Given the description of an element on the screen output the (x, y) to click on. 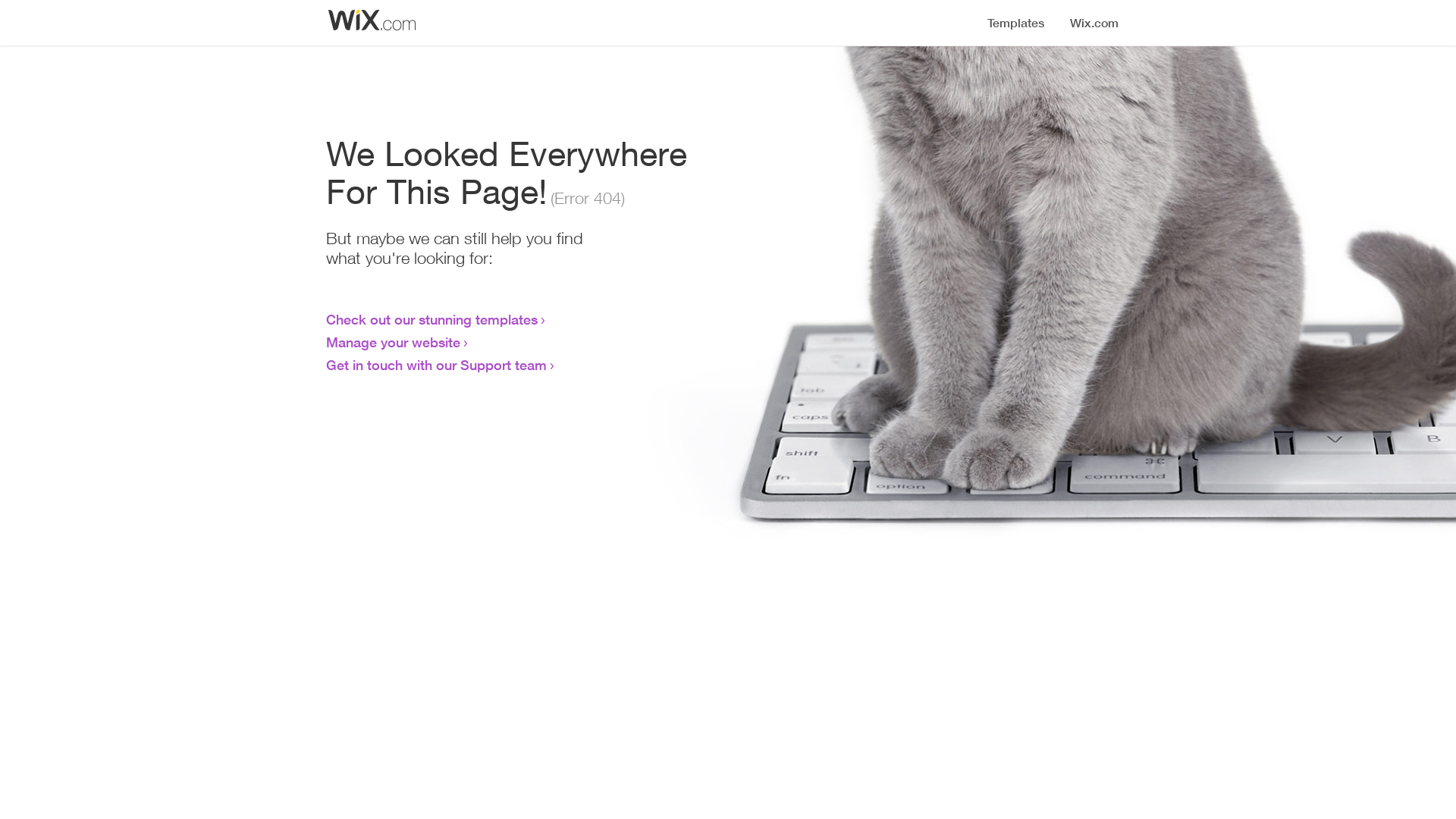
Check out our stunning templates Element type: text (431, 318)
Get in touch with our Support team Element type: text (436, 364)
Manage your website Element type: text (393, 341)
